Given the description of an element on the screen output the (x, y) to click on. 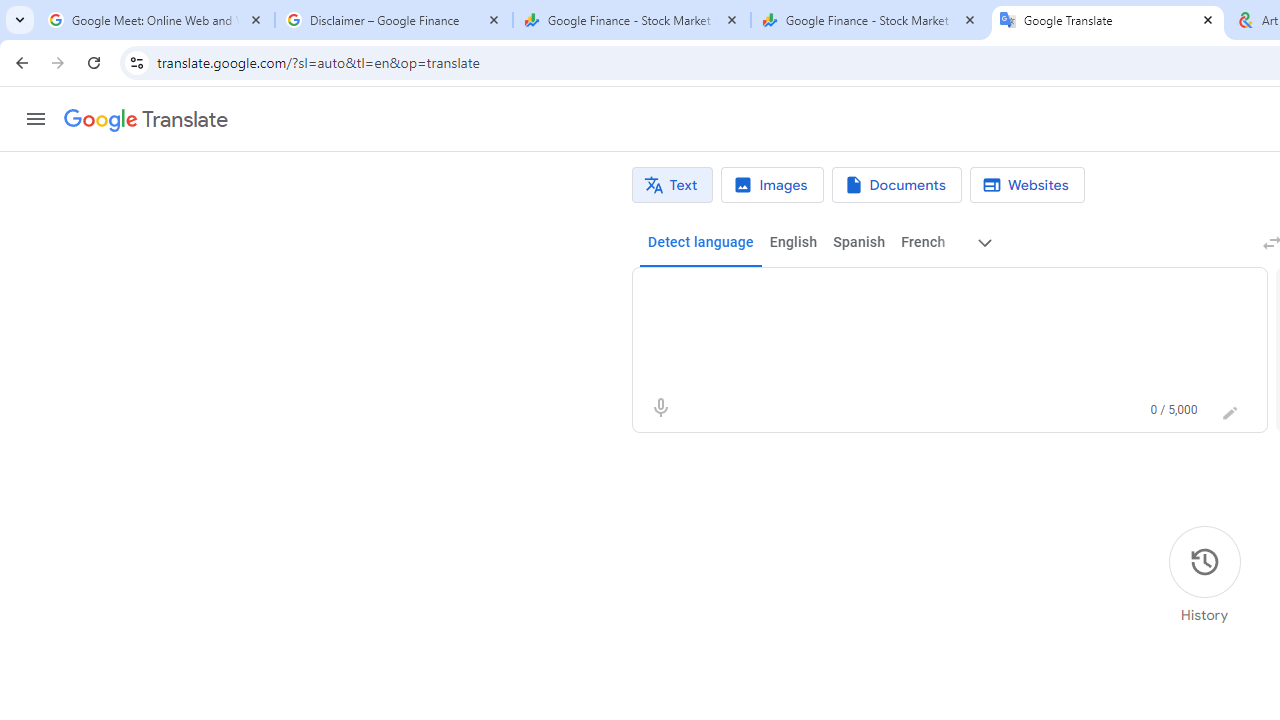
0 of 5,000 characters used (1173, 410)
Google Translate (145, 120)
More source languages (985, 242)
Source text (930, 295)
Spanish (858, 242)
Image translation (772, 185)
Translate by voice (660, 407)
Document translation (896, 185)
